Given the description of an element on the screen output the (x, y) to click on. 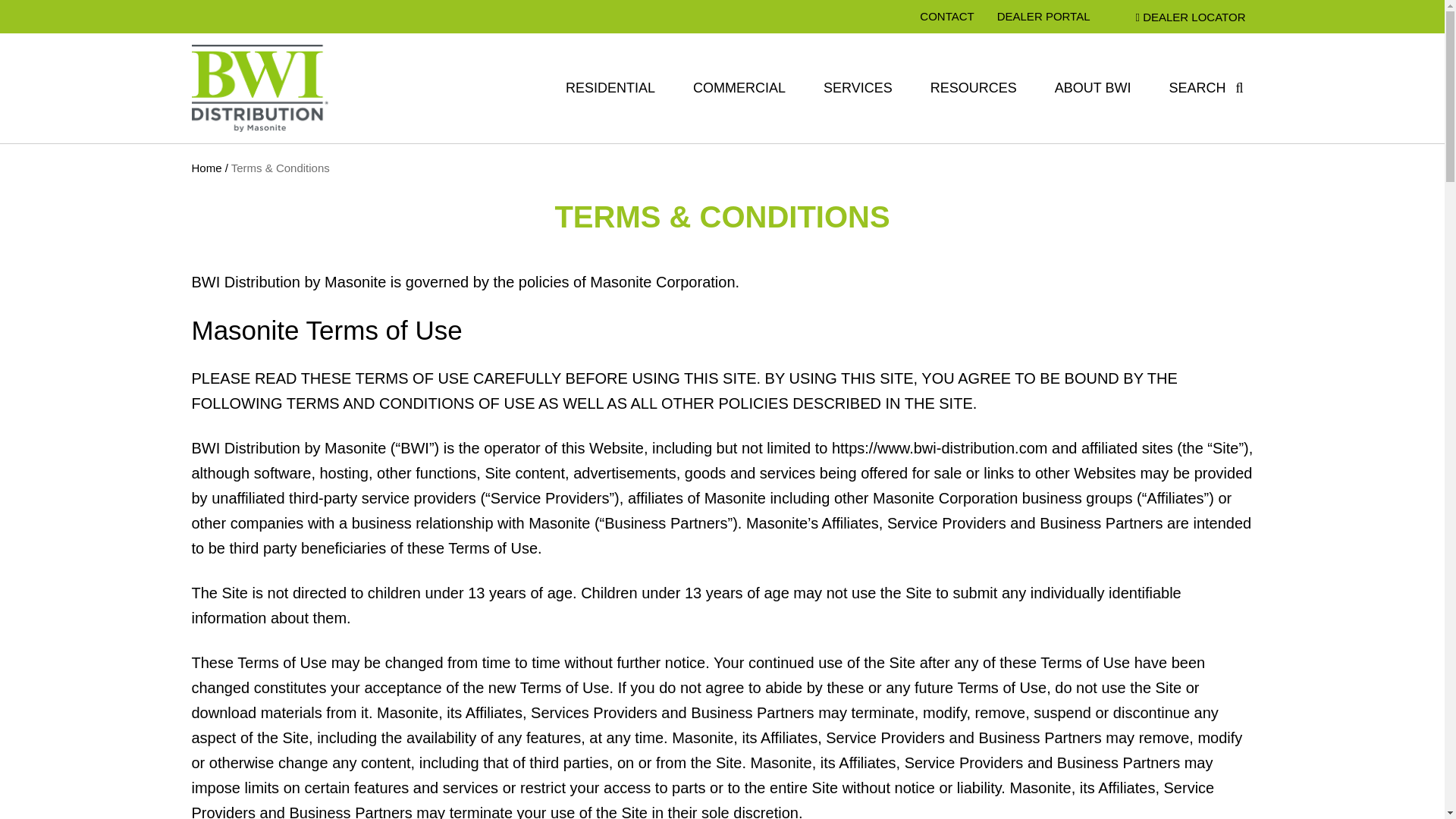
RESIDENTIAL (610, 88)
BWI DISTRIBUTION (278, 185)
ABOUT BWI (1092, 88)
RESOURCES (973, 88)
DEALER LOCATOR (1190, 16)
COMMERCIAL (739, 88)
CONTACT (947, 16)
DEALER PORTAL (1043, 16)
SERVICES (858, 88)
